Given the description of an element on the screen output the (x, y) to click on. 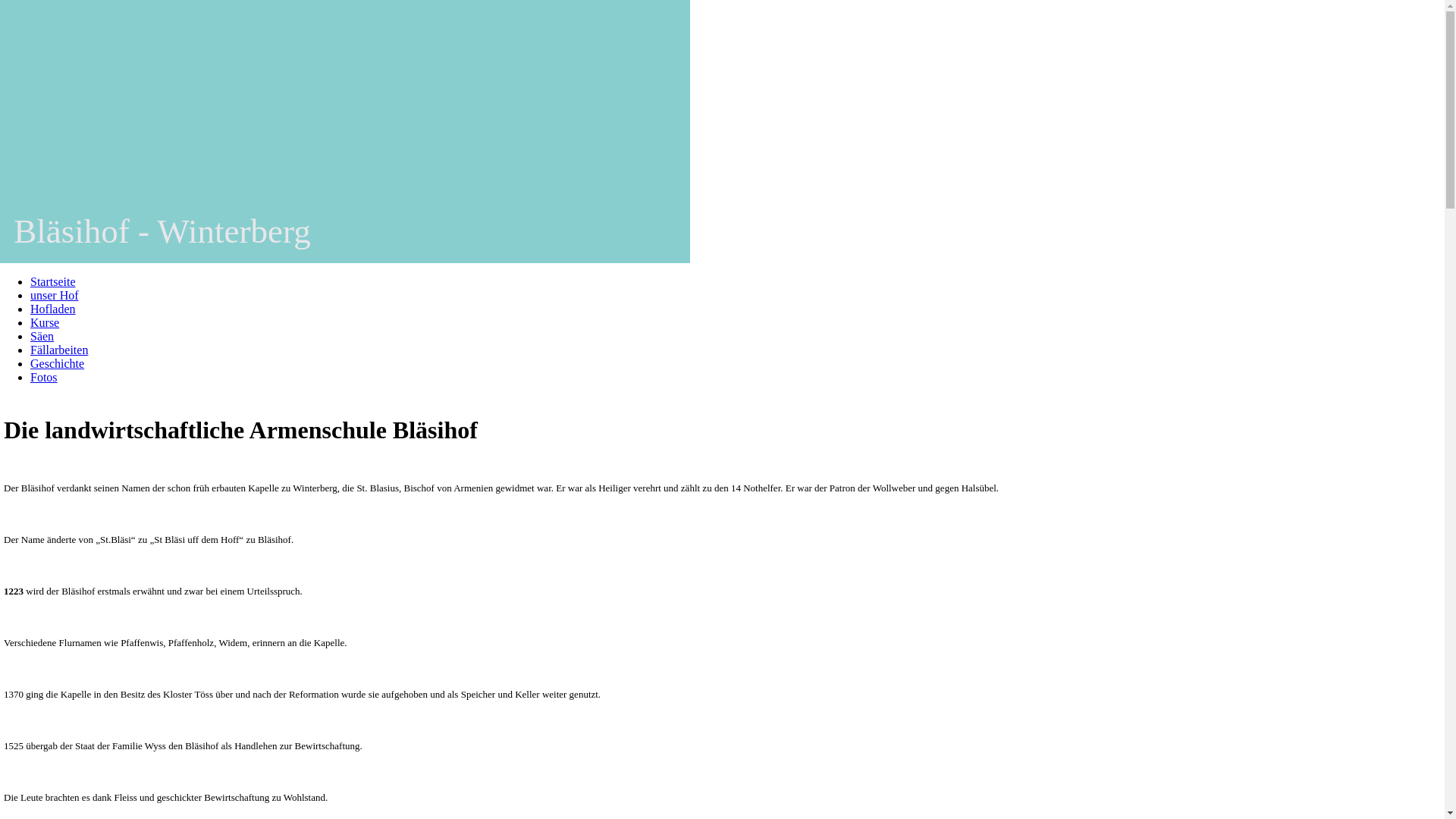
Geschichte Element type: text (57, 363)
unser Hof Element type: text (54, 294)
Kurse Element type: text (44, 322)
Fotos Element type: text (43, 376)
Hofladen Element type: text (52, 308)
Startseite Element type: text (52, 281)
